Given the description of an element on the screen output the (x, y) to click on. 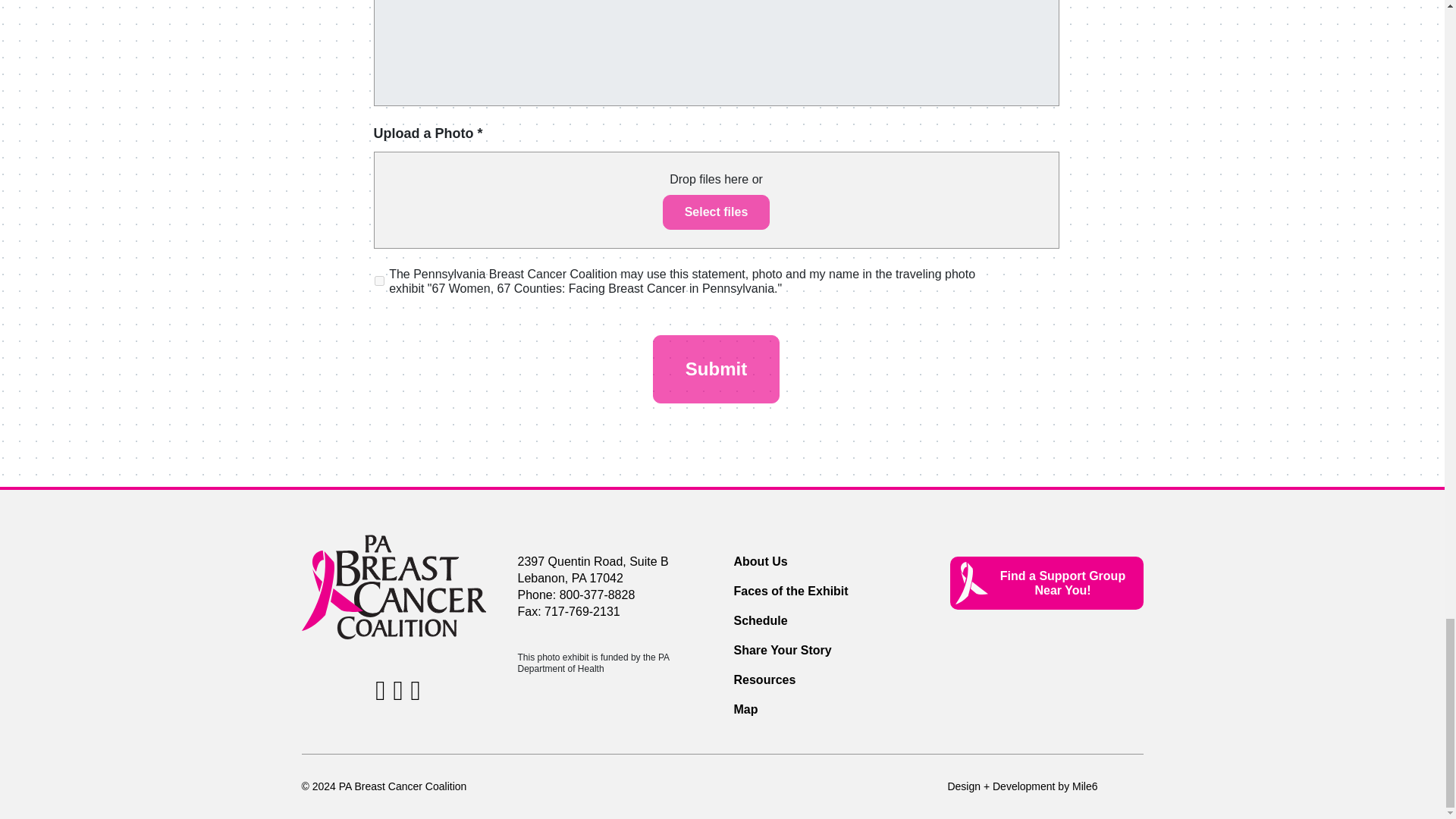
Map (745, 708)
Find a Support Group Near You! (1045, 582)
Submit (715, 368)
Submit (715, 368)
About Us (760, 561)
Schedule (760, 620)
Select files (716, 212)
800-377-8828 (596, 594)
Faces of the Exhibit (790, 590)
Share Your Story (782, 649)
